Given the description of an element on the screen output the (x, y) to click on. 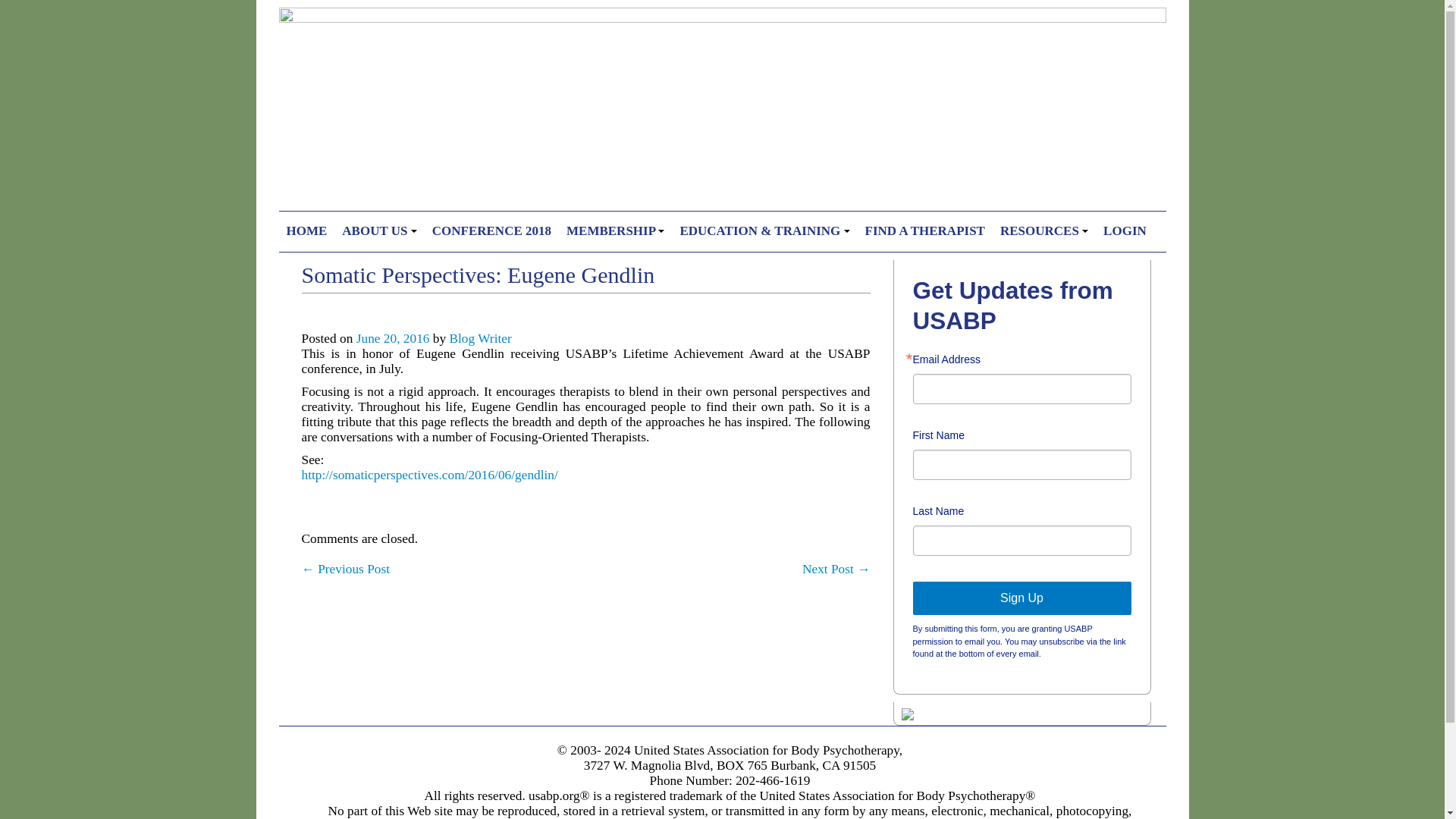
Welcome to USABP (306, 231)
FIND A THERAPIST (924, 231)
5:45 pm (392, 338)
Skip to primary content (341, 218)
CONFERENCE 2018 (492, 231)
Skip to secondary content (346, 218)
ABOUT US (378, 231)
Skip to secondary content (346, 218)
Skip to primary content (341, 218)
